Given the description of an element on the screen output the (x, y) to click on. 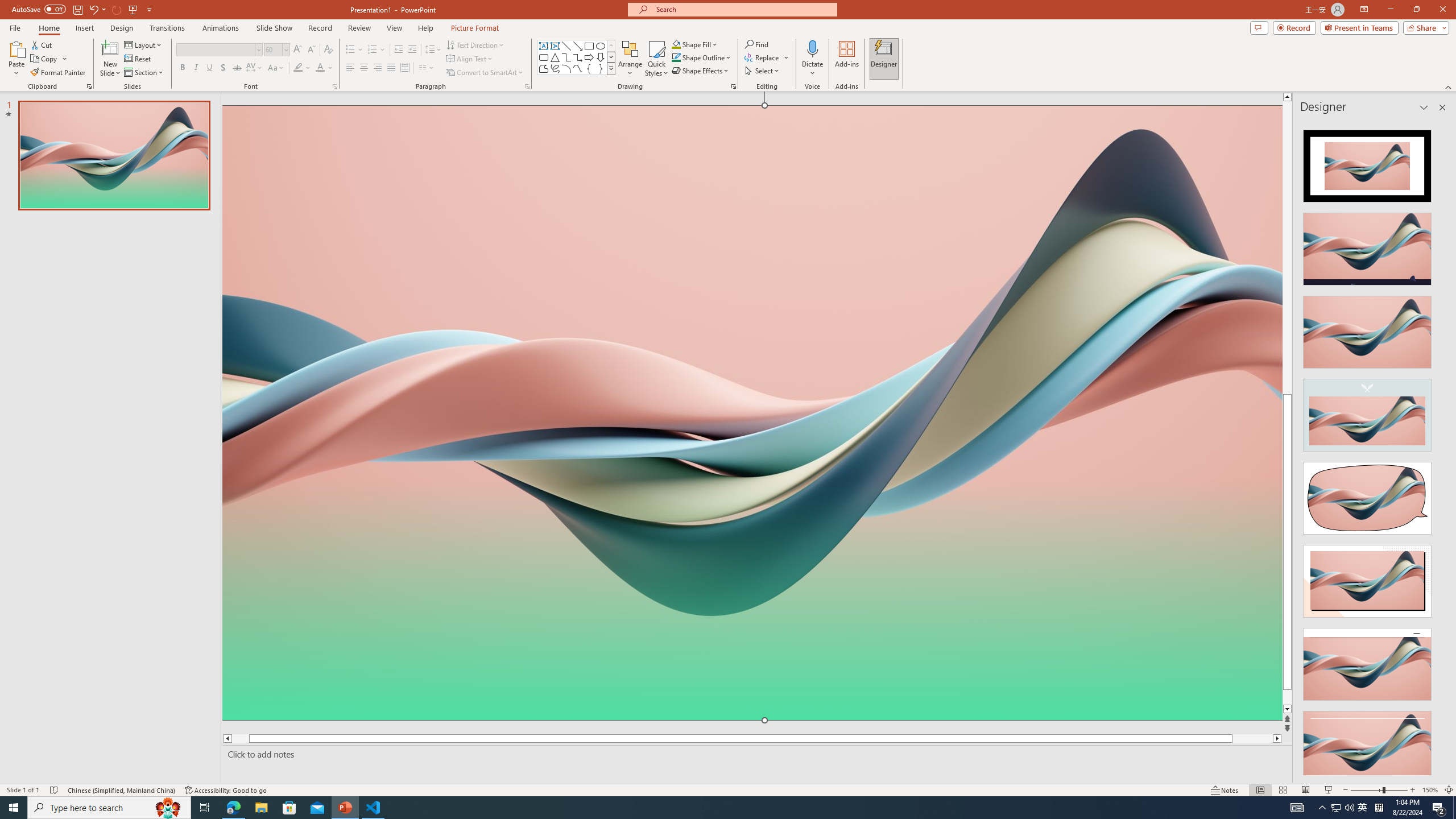
Zoom 150% (1430, 790)
